Given the description of an element on the screen output the (x, y) to click on. 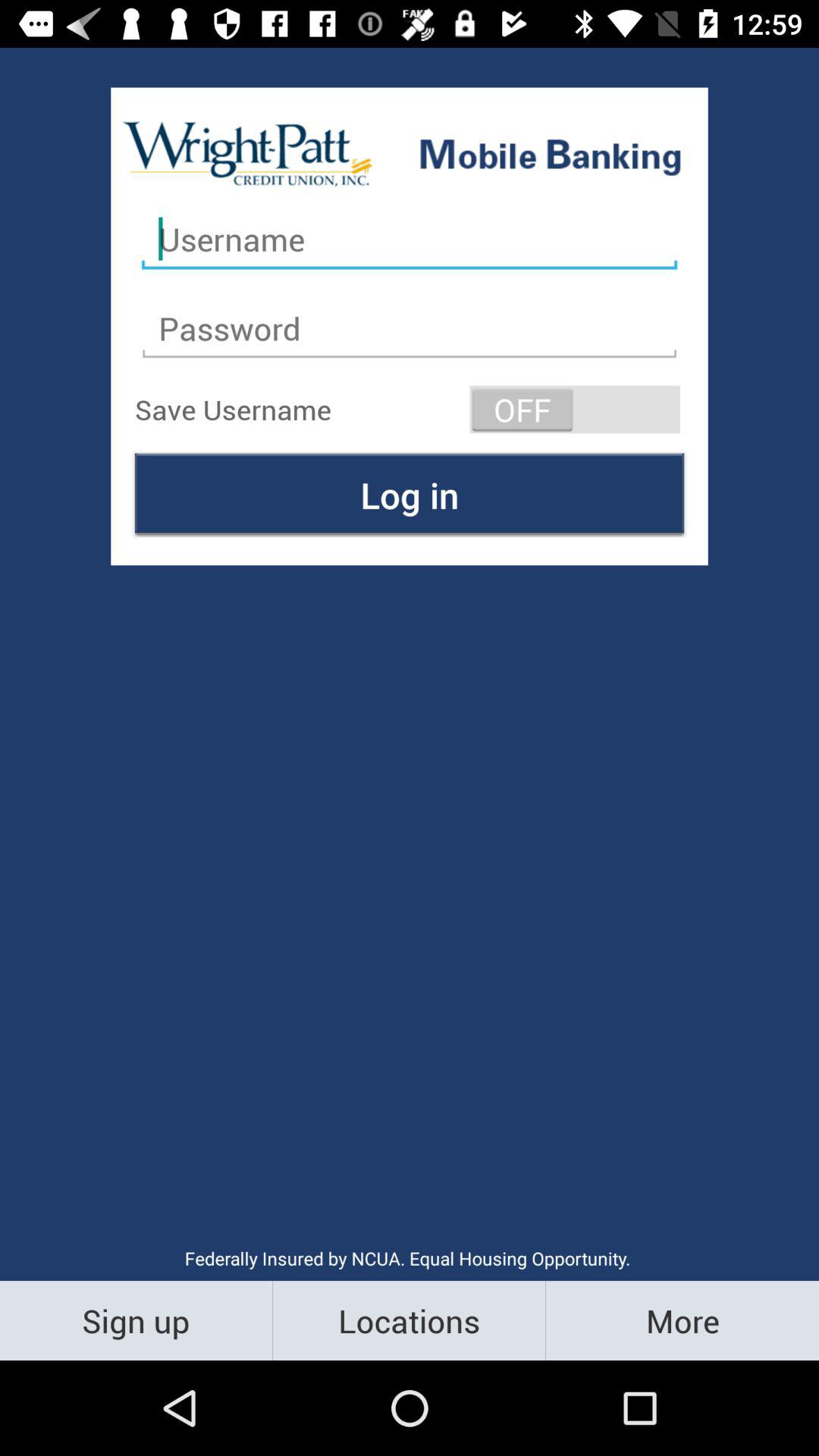
turn off the log in icon (409, 494)
